Given the description of an element on the screen output the (x, y) to click on. 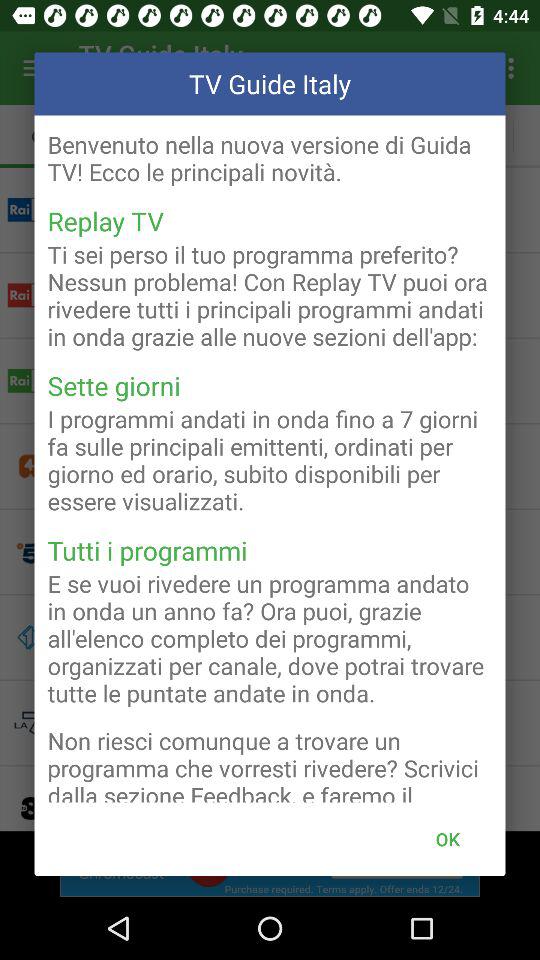
launch ok button (447, 838)
